Given the description of an element on the screen output the (x, y) to click on. 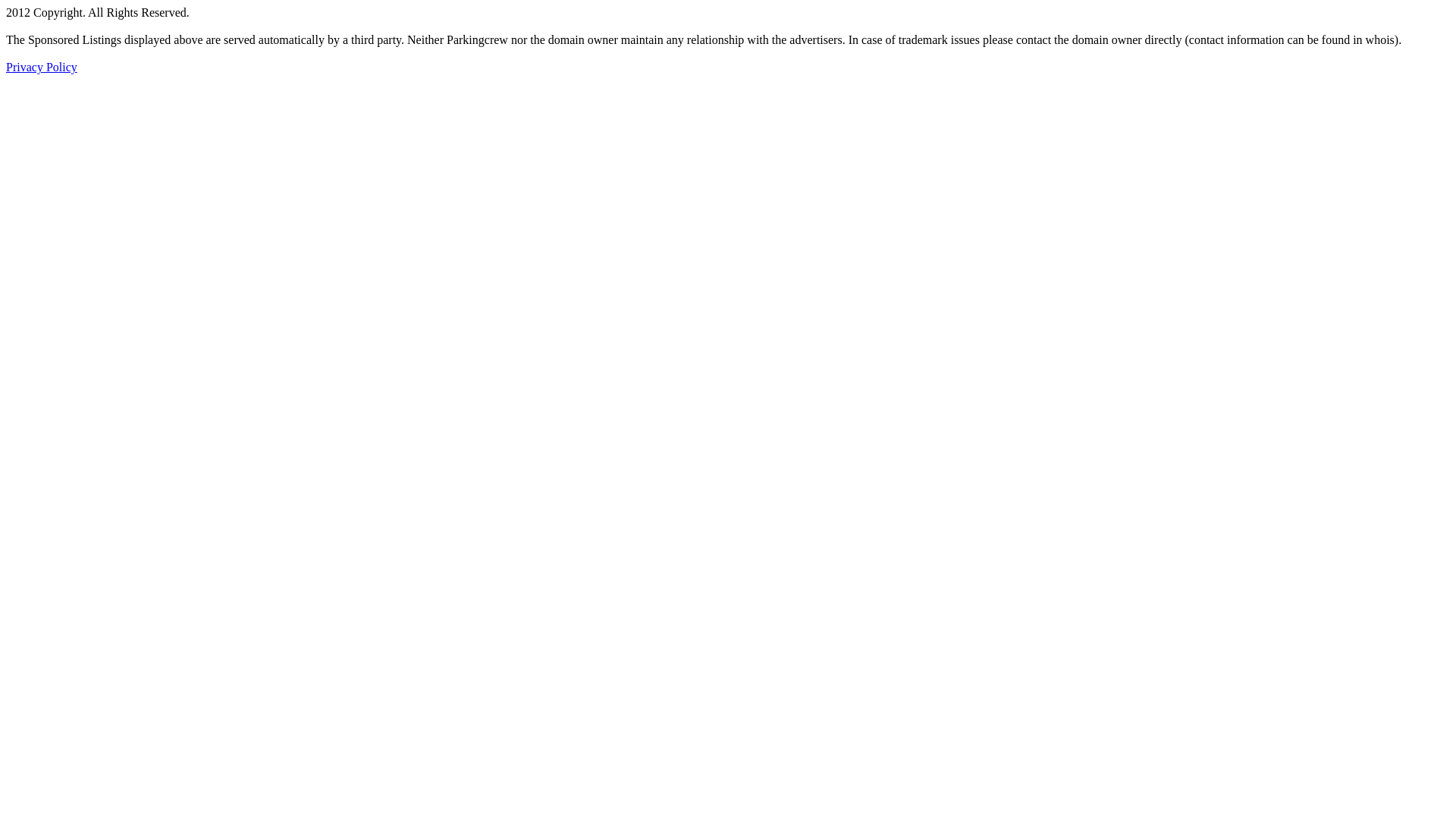
Privacy Policy Element type: text (41, 66)
